Given the description of an element on the screen output the (x, y) to click on. 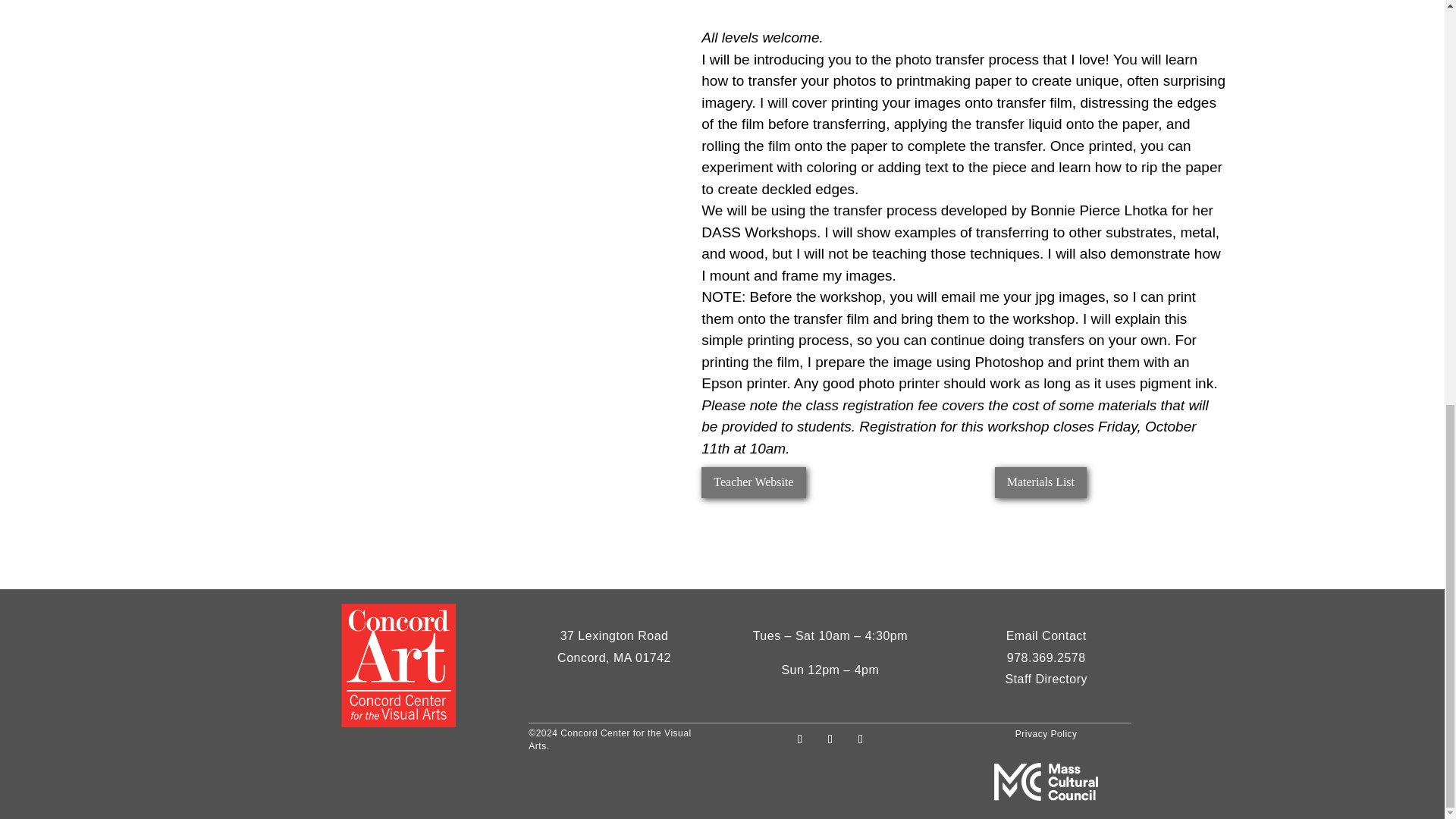
Follow on X (830, 739)
Teacher Website (753, 481)
Email Contact (1046, 635)
Privacy Policy (1045, 733)
Follow on Facebook (799, 739)
Staff Directory (1045, 671)
Follow on Instagram (860, 739)
Materials List (1040, 481)
